Given the description of an element on the screen output the (x, y) to click on. 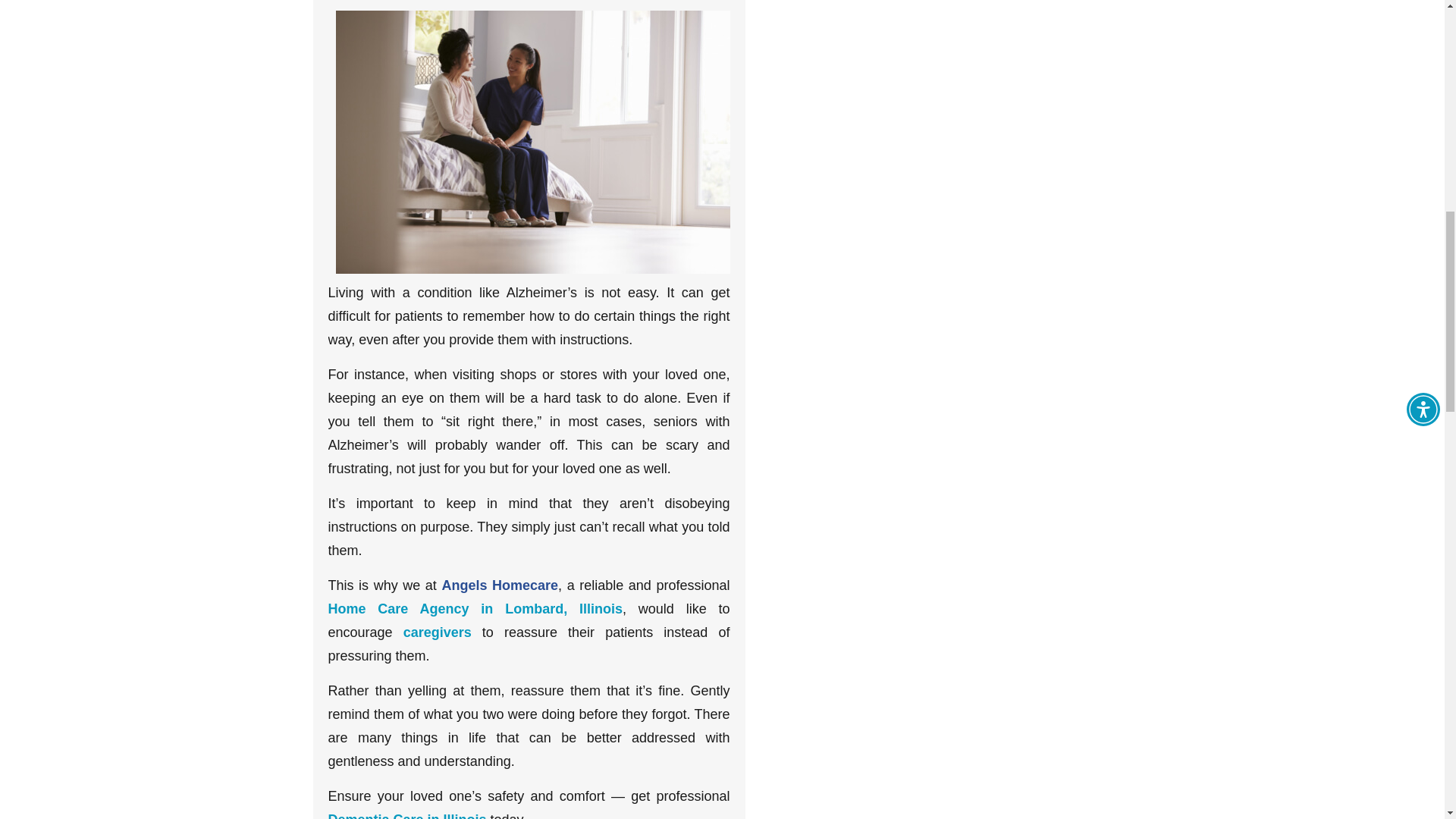
caregivers (437, 631)
Home Care Agency in Lombard, Illinois (474, 608)
Dementia Care in Illinois (406, 815)
